Given the description of an element on the screen output the (x, y) to click on. 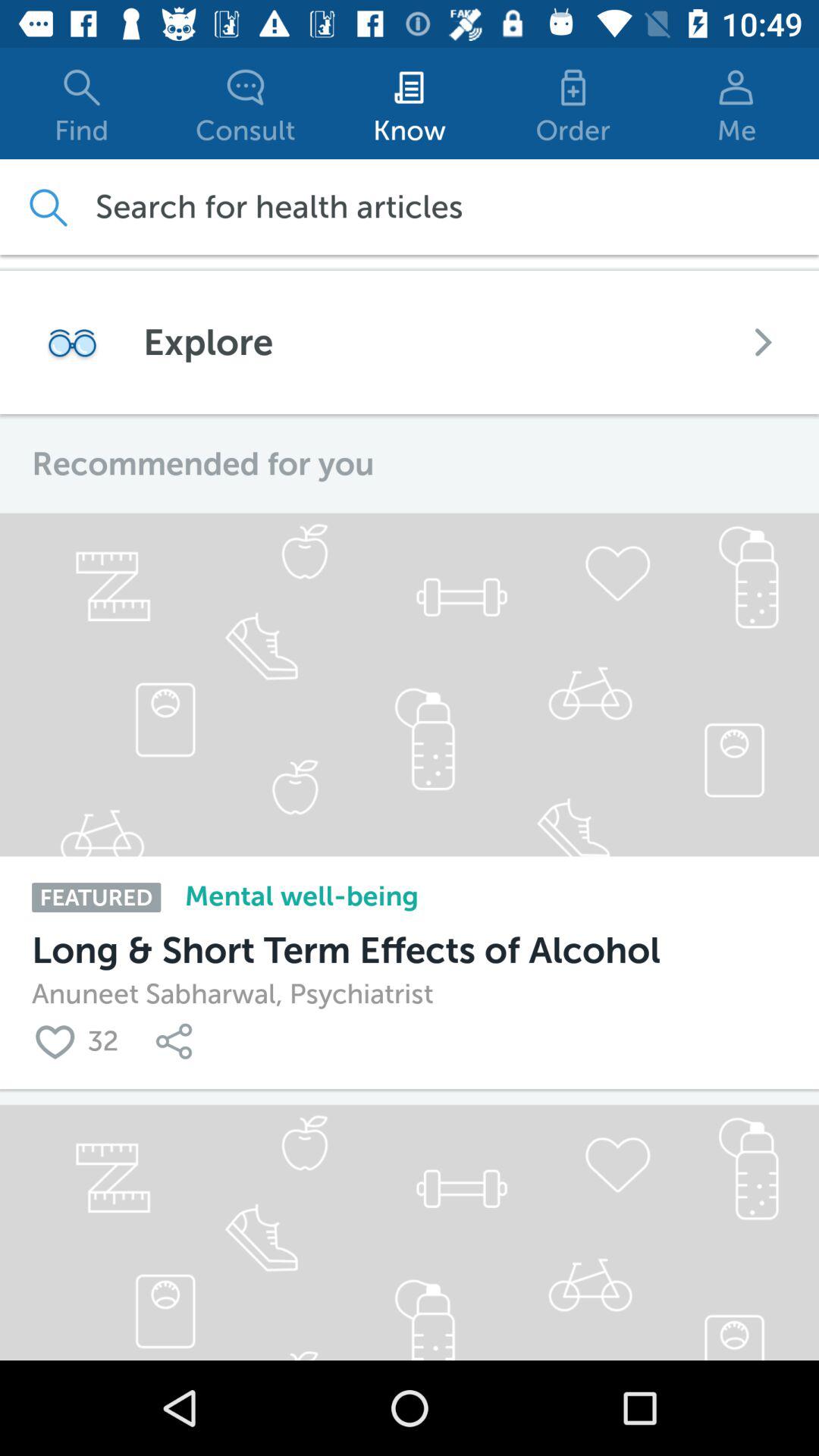
loved the content (59, 1041)
